Given the description of an element on the screen output the (x, y) to click on. 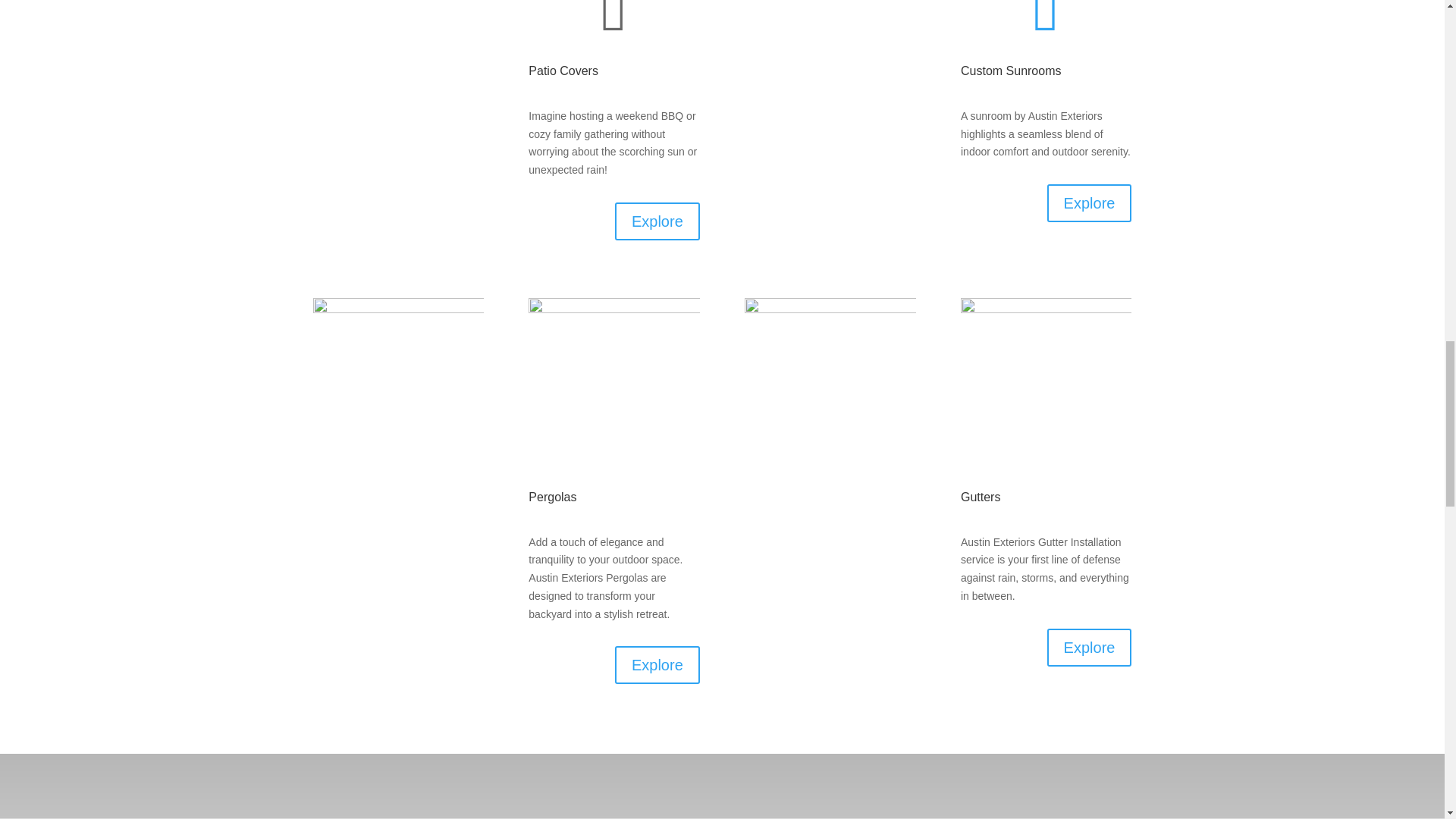
Explore (1089, 647)
home-remodelling-64 (829, 81)
Explore (657, 664)
Explore (657, 221)
Explore (1089, 202)
